Given the description of an element on the screen output the (x, y) to click on. 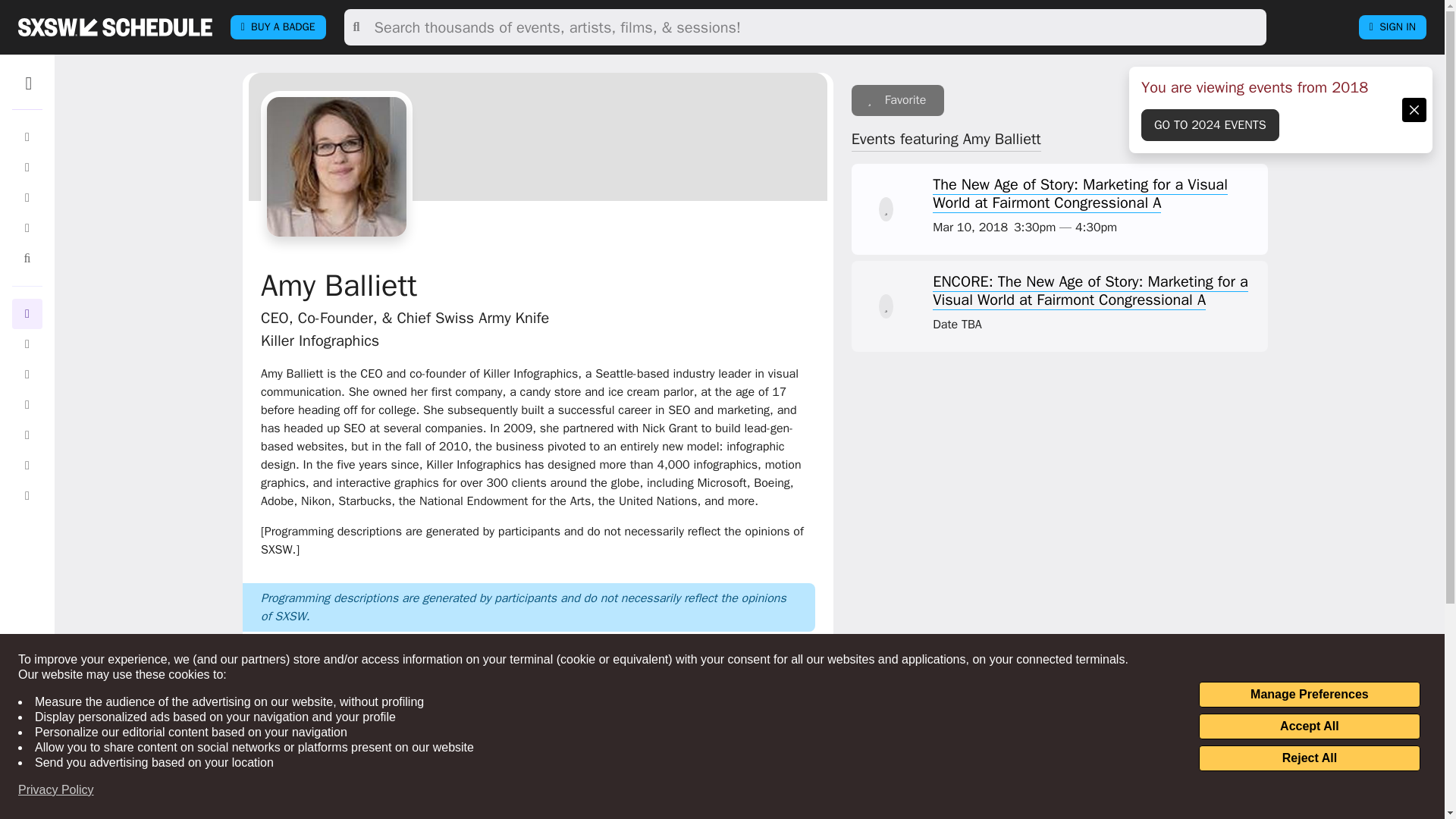
GO TO 2024 EVENTS (1210, 124)
SIGN IN (1392, 27)
Sign In to add to your favorites. (897, 100)
BUY A BADGE (278, 27)
sxsw SCHEDULE (114, 27)
Privacy Policy (55, 789)
Accept All (1309, 726)
Reject All (1309, 758)
Manage Preferences (1309, 694)
